Given the description of an element on the screen output the (x, y) to click on. 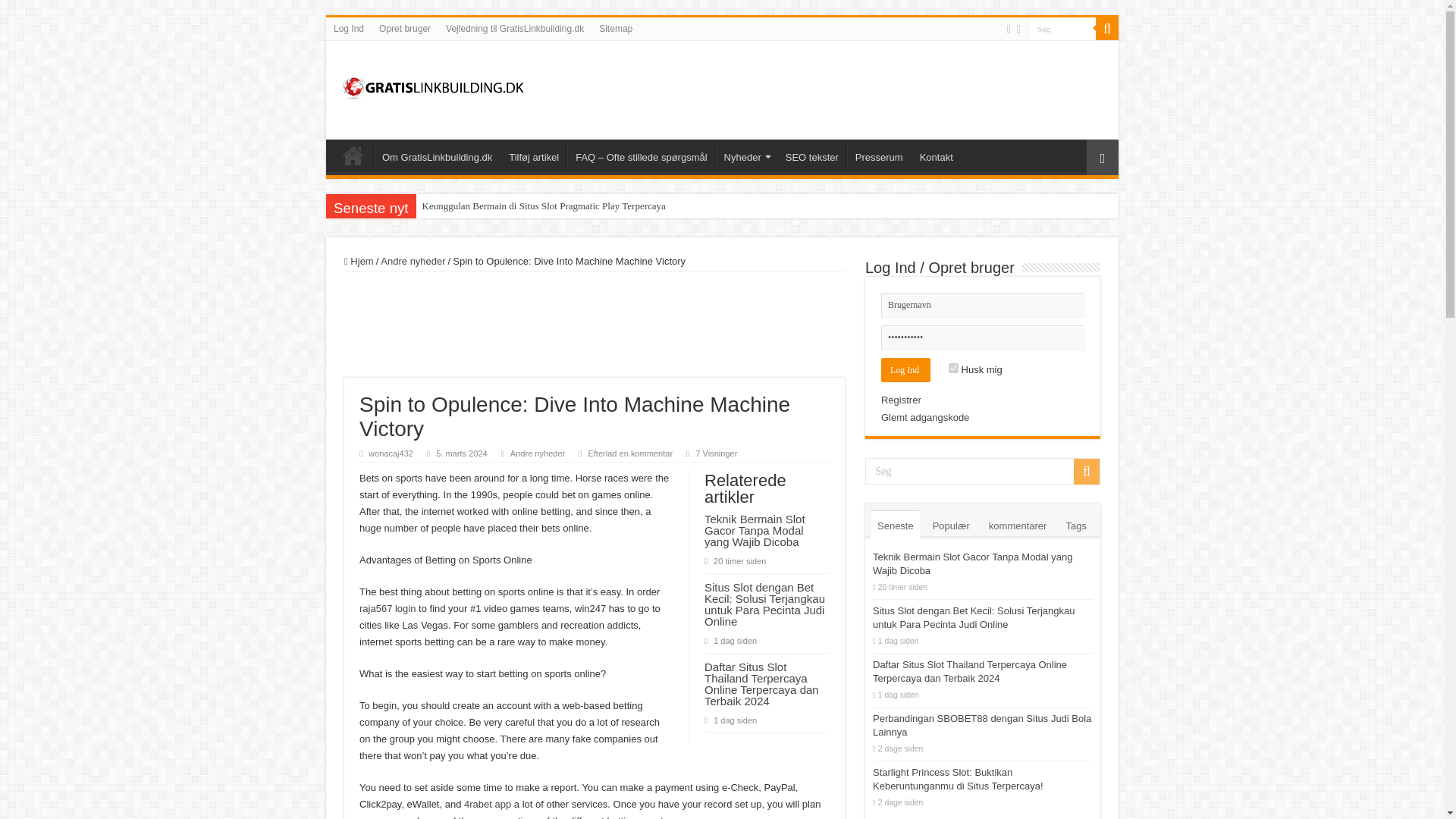
Vejledning til GratisLinkbuilding.dk (514, 28)
Adgangskode (982, 337)
Nyheder (746, 155)
Log Ind  (905, 369)
forever (953, 368)
Om GratisLinkbuilding.dk (436, 155)
Brugernavn (982, 304)
Sitemap (615, 28)
Log Ind (348, 28)
Hjem (352, 155)
Opret bruger (404, 28)
